Given the description of an element on the screen output the (x, y) to click on. 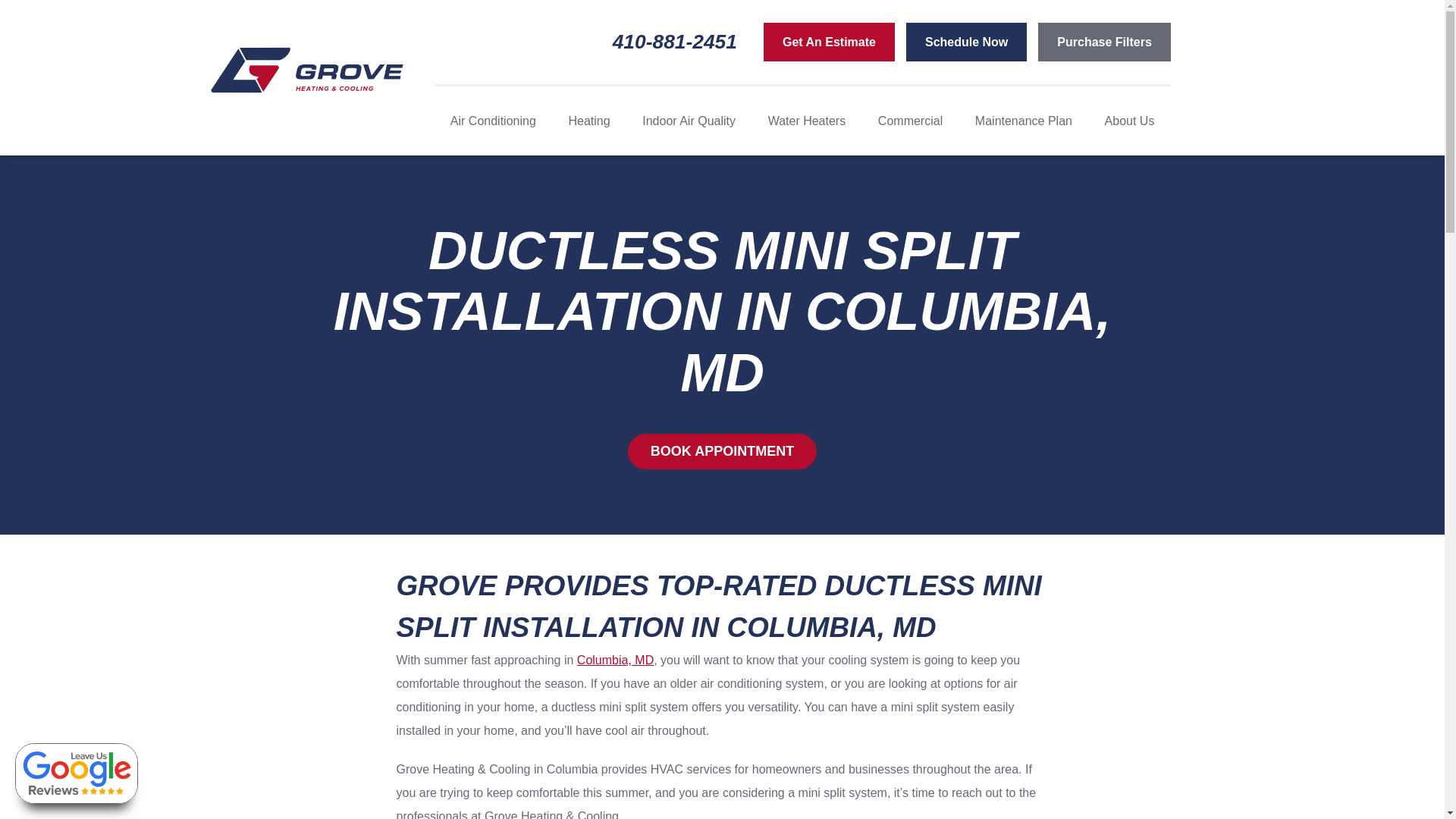
Heating (588, 120)
Air Conditioning (493, 120)
Water Heaters (807, 120)
410-881-2451 (687, 42)
Maintenance Plan (1023, 120)
Purchase Filters (1104, 41)
Indoor Air Quality (688, 120)
Get An Estimate (828, 41)
Commercial (909, 120)
About Us (1129, 120)
